Given the description of an element on the screen output the (x, y) to click on. 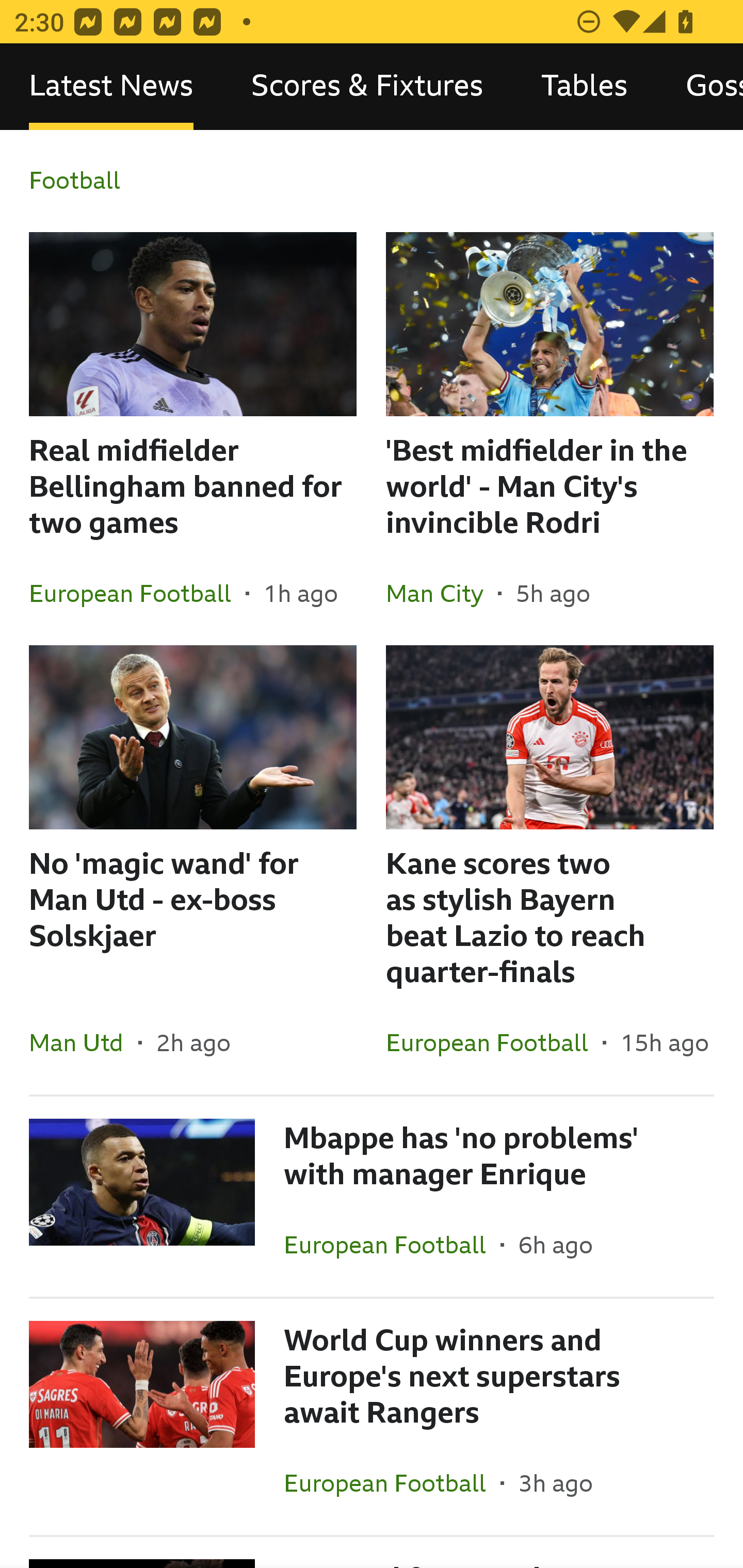
Latest News, selected Latest News (111, 86)
Scores & Fixtures (367, 86)
Tables (584, 86)
Gossip (699, 86)
Football In the section Football (371, 181)
European Football In the section European Football (136, 593)
Man City In the section Man City (441, 593)
Man Utd In the section Man Utd (83, 1042)
European Football In the section European Football (493, 1042)
European Football In the section European Football (391, 1244)
European Football In the section European Football (391, 1482)
